Given the description of an element on the screen output the (x, y) to click on. 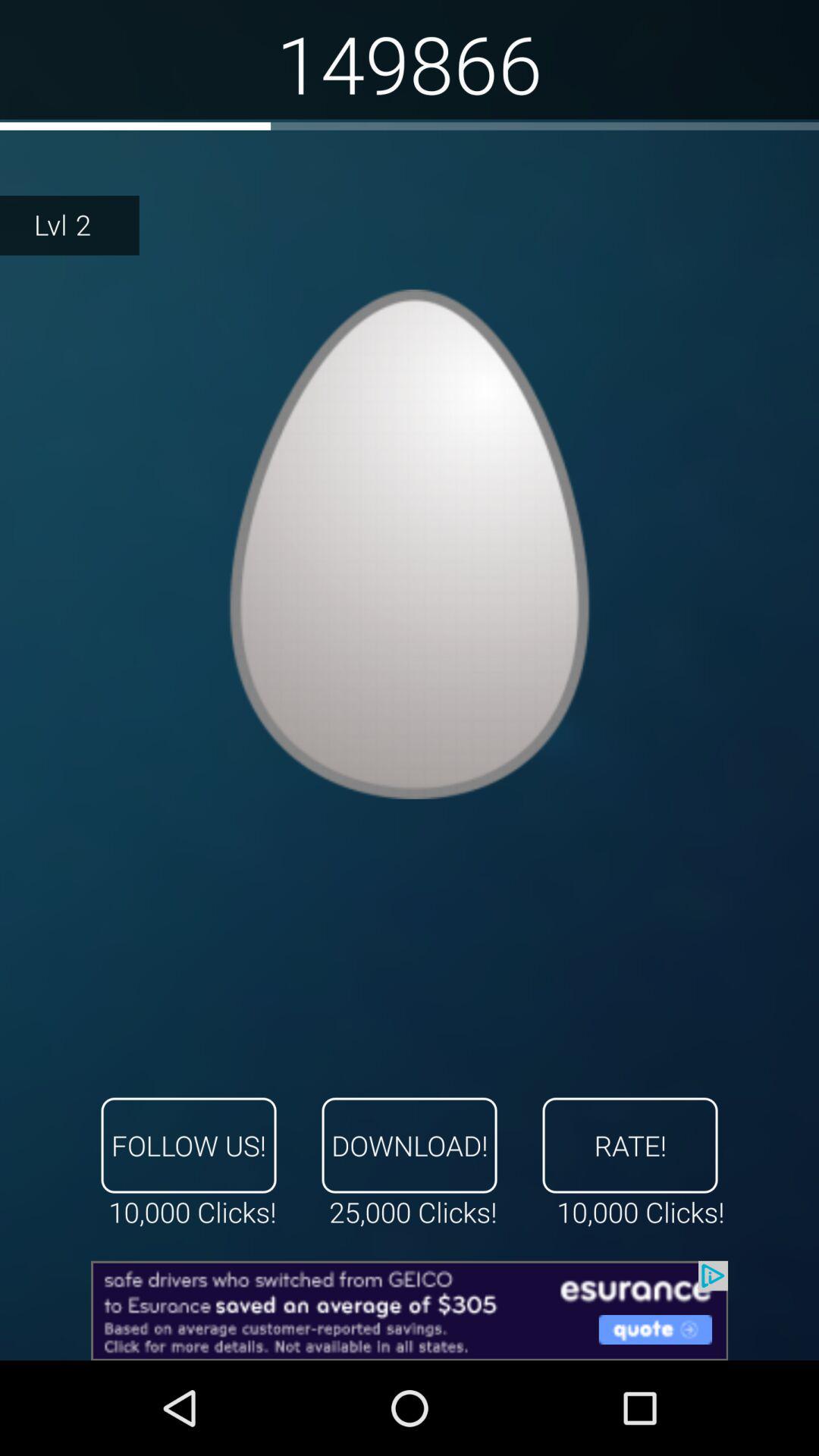
click advertisement (409, 1310)
